Given the description of an element on the screen output the (x, y) to click on. 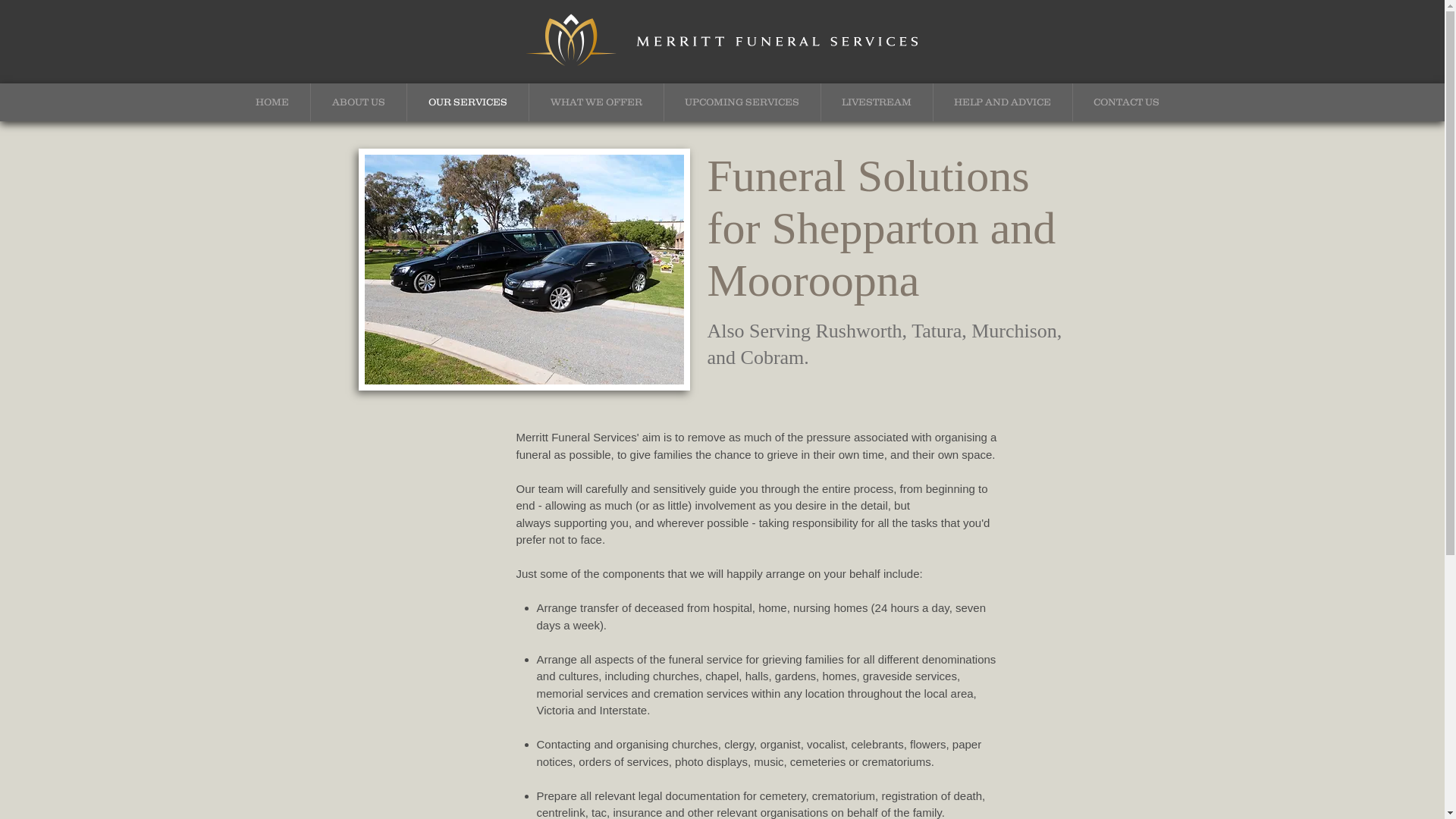
ABOUT US Element type: text (358, 102)
LIVESTREAM Element type: text (875, 102)
UPCOMING SERVICES Element type: text (742, 102)
HOME Element type: text (271, 102)
HELP AND ADVICE Element type: text (1001, 102)
OUR SERVICES Element type: text (466, 102)
Merritt_Funeral_Logo.png Element type: hover (722, 42)
CONTACT US Element type: text (1125, 102)
WHAT WE OFFER Element type: text (596, 102)
